Given the description of an element on the screen output the (x, y) to click on. 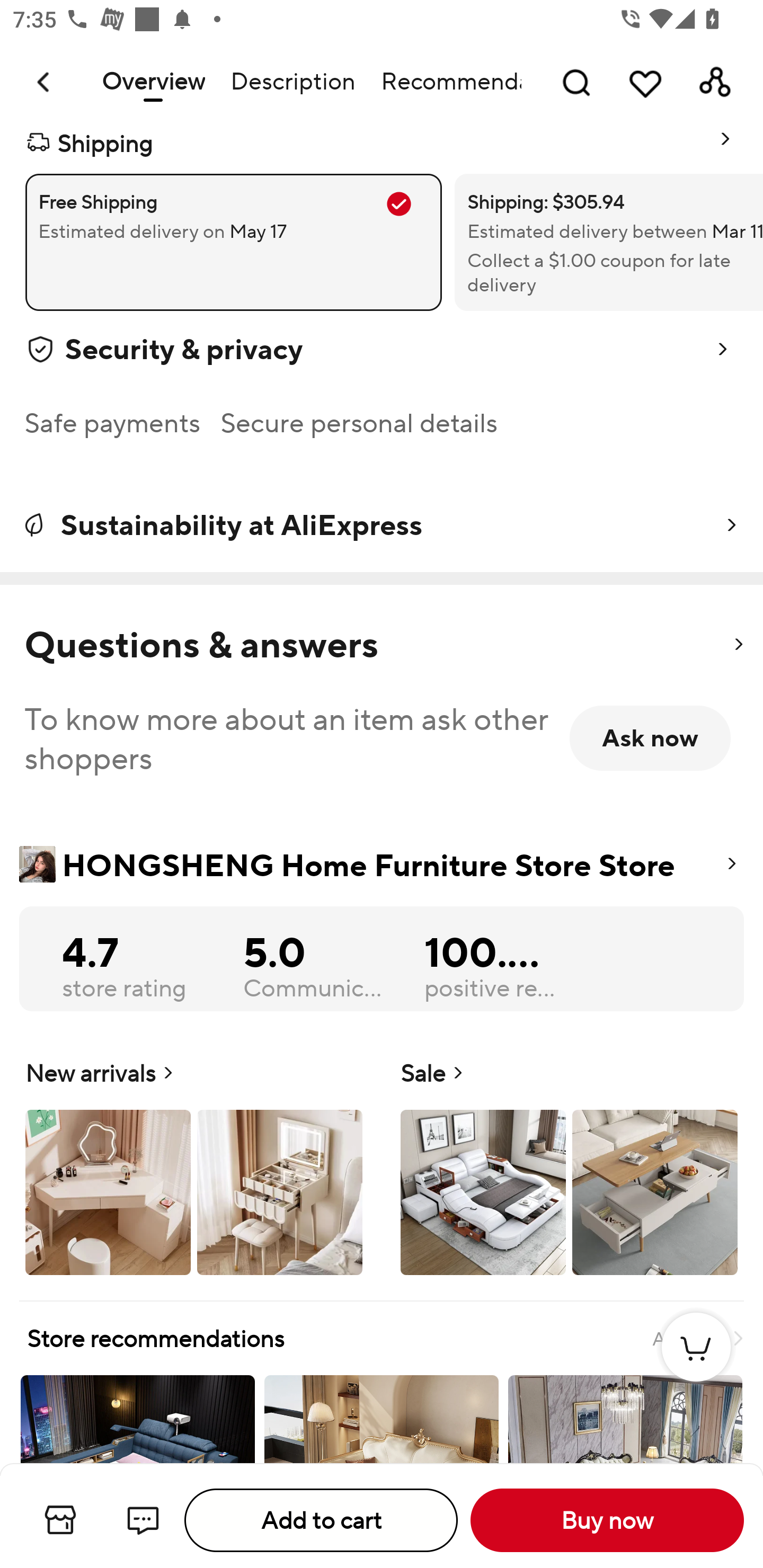
Navigate up (44, 82)
Description (292, 81)
Recommendations (444, 81)
Free Shipping  Estimated delivery on May 17  (233, 242)
Sustainability at AliExpress  (381, 525)
 (737, 643)
To know more about an item ask other shoppers (288, 738)
Ask now (649, 738)
New arrivals  (193, 1164)
Sale  (568, 1164)
Add to cart (320, 1520)
Buy now (606, 1520)
